Given the description of an element on the screen output the (x, y) to click on. 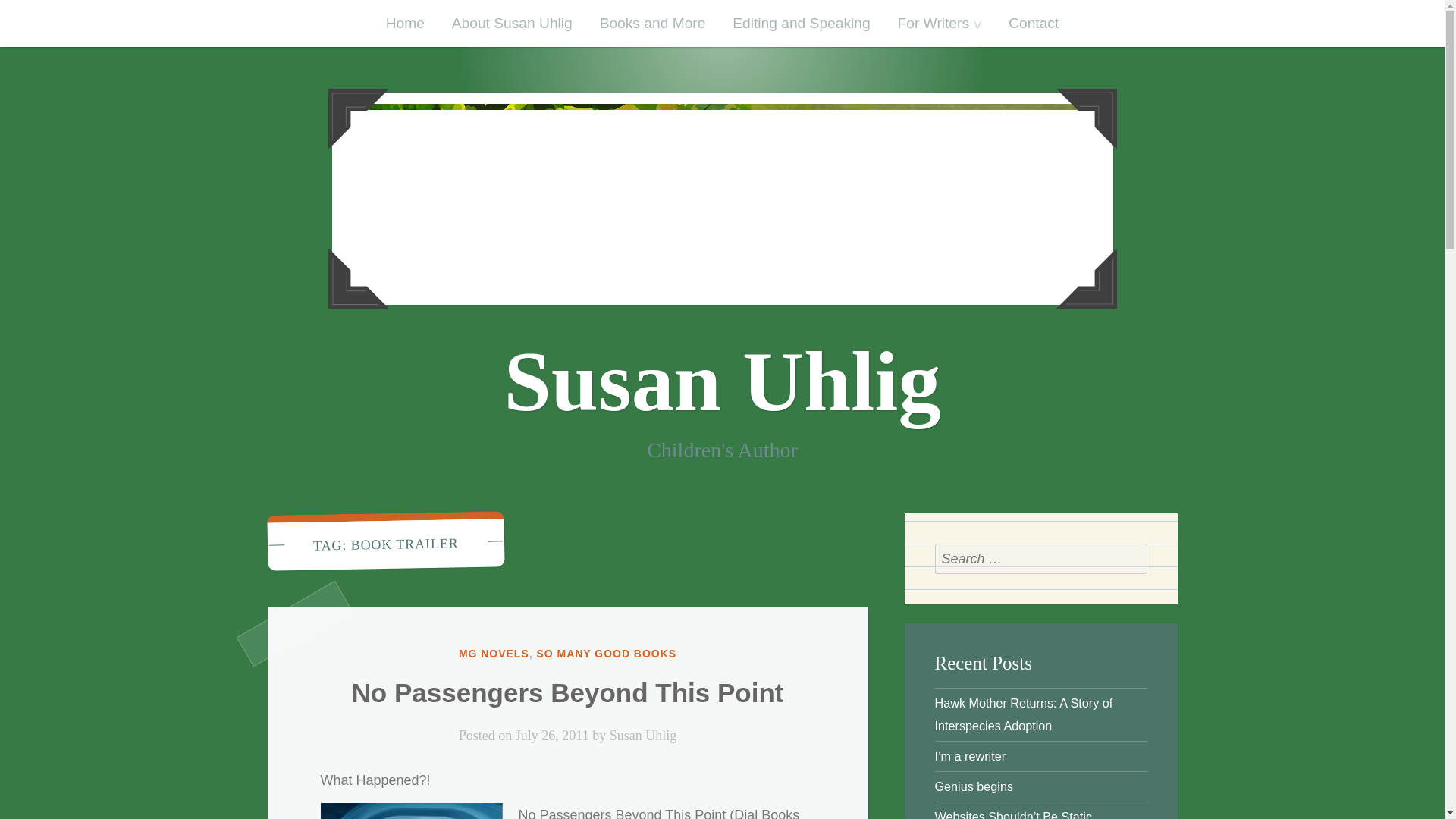
SO MANY GOOD BOOKS (606, 653)
Susan Uhlig (721, 381)
Editing and Speaking (801, 23)
Search (1131, 558)
Home (405, 23)
Books and More (652, 23)
Search (1131, 558)
About Susan Uhlig (512, 23)
Genius begins (973, 786)
Hawk Mother Returns: A Story of Interspecies Adoption (1023, 714)
MG NOVELS (493, 653)
Contact (1032, 23)
Susan Uhlig (643, 735)
July 26, 2011 (552, 735)
Search (1131, 558)
